Given the description of an element on the screen output the (x, y) to click on. 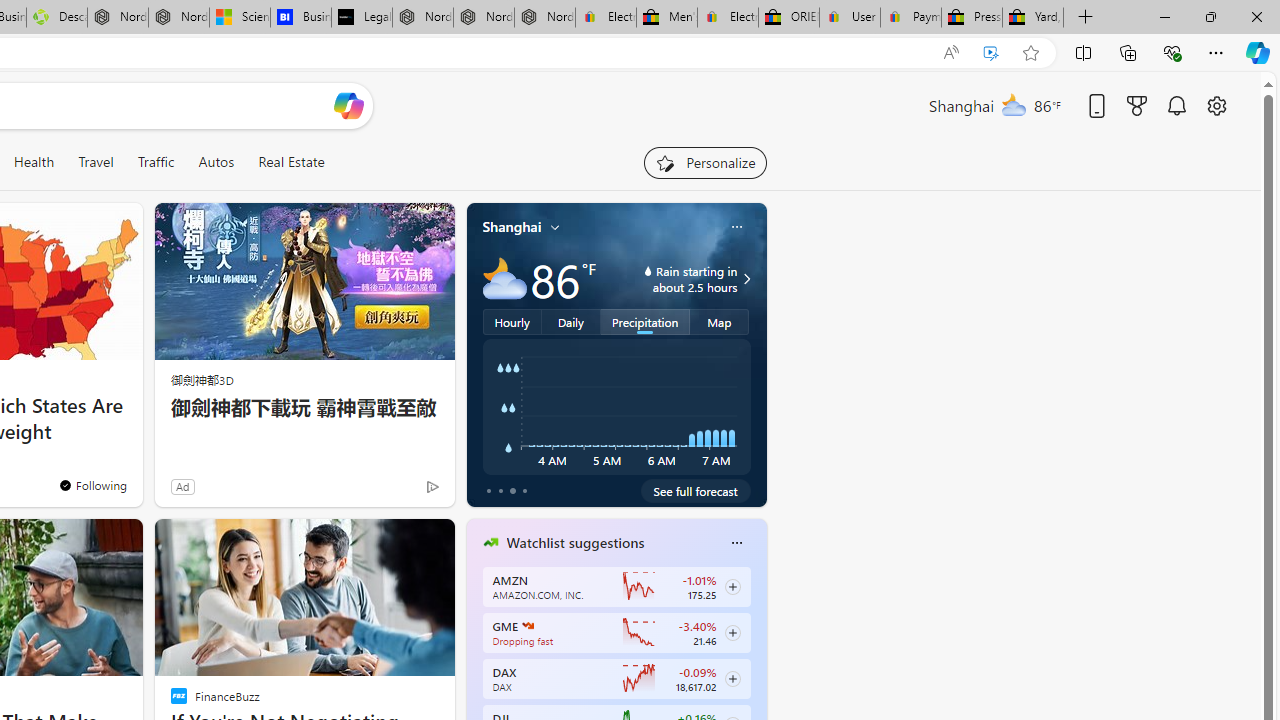
Yard, Garden & Outdoor Living (1033, 17)
Mostly cloudy (504, 278)
You're following Newsweek (92, 485)
tab-1 (500, 490)
Enhance video (991, 53)
